Given the description of an element on the screen output the (x, y) to click on. 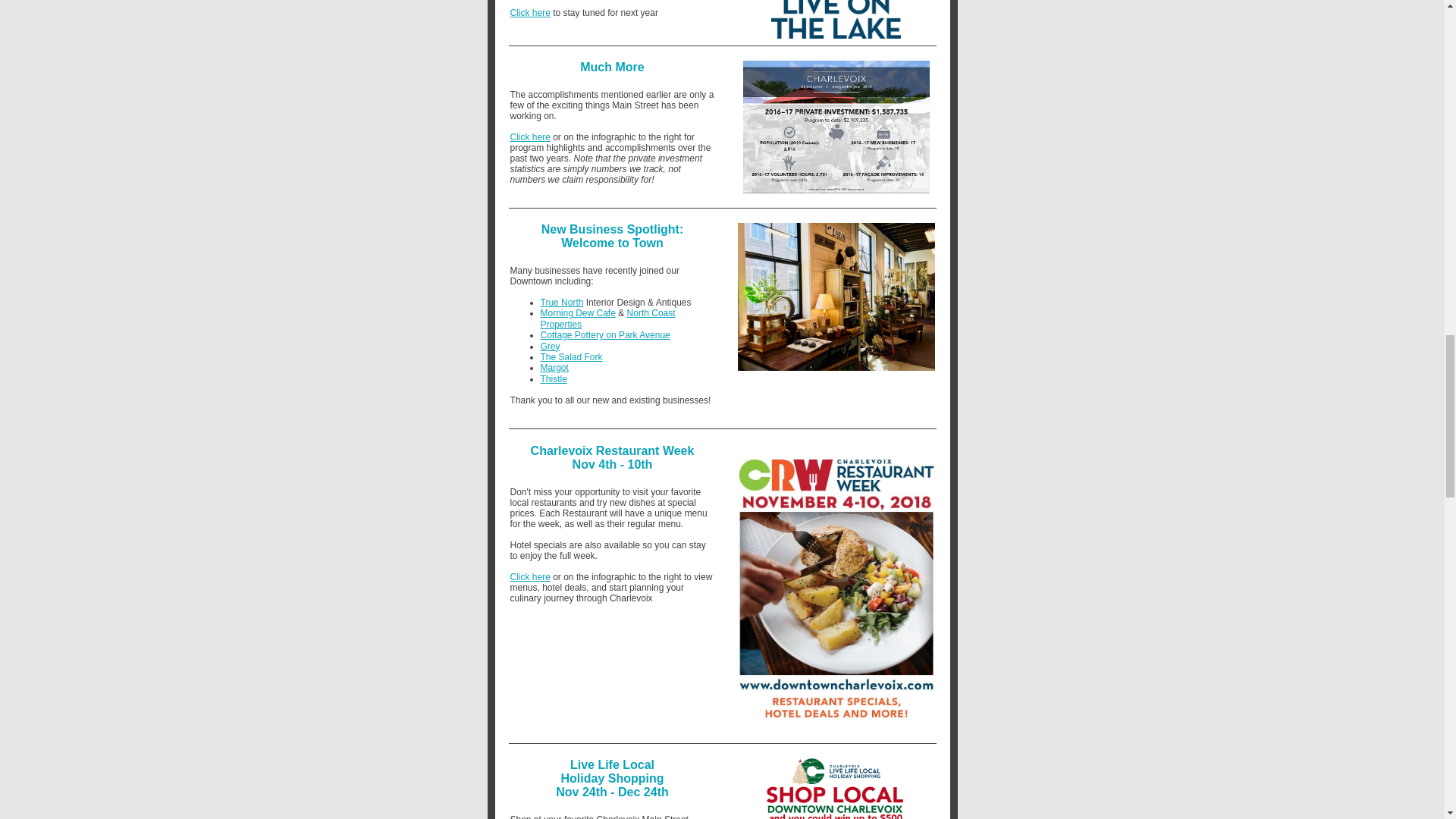
The Salad Fork (571, 357)
North Coast Properties (607, 318)
Margot (553, 367)
True North (561, 302)
Cottage Pottery on Park Avenue (604, 335)
Thistle (553, 378)
Click here (529, 12)
Morning Dew Cafe (577, 312)
Click here (529, 576)
Click here (529, 136)
Grey (549, 346)
